Given the description of an element on the screen output the (x, y) to click on. 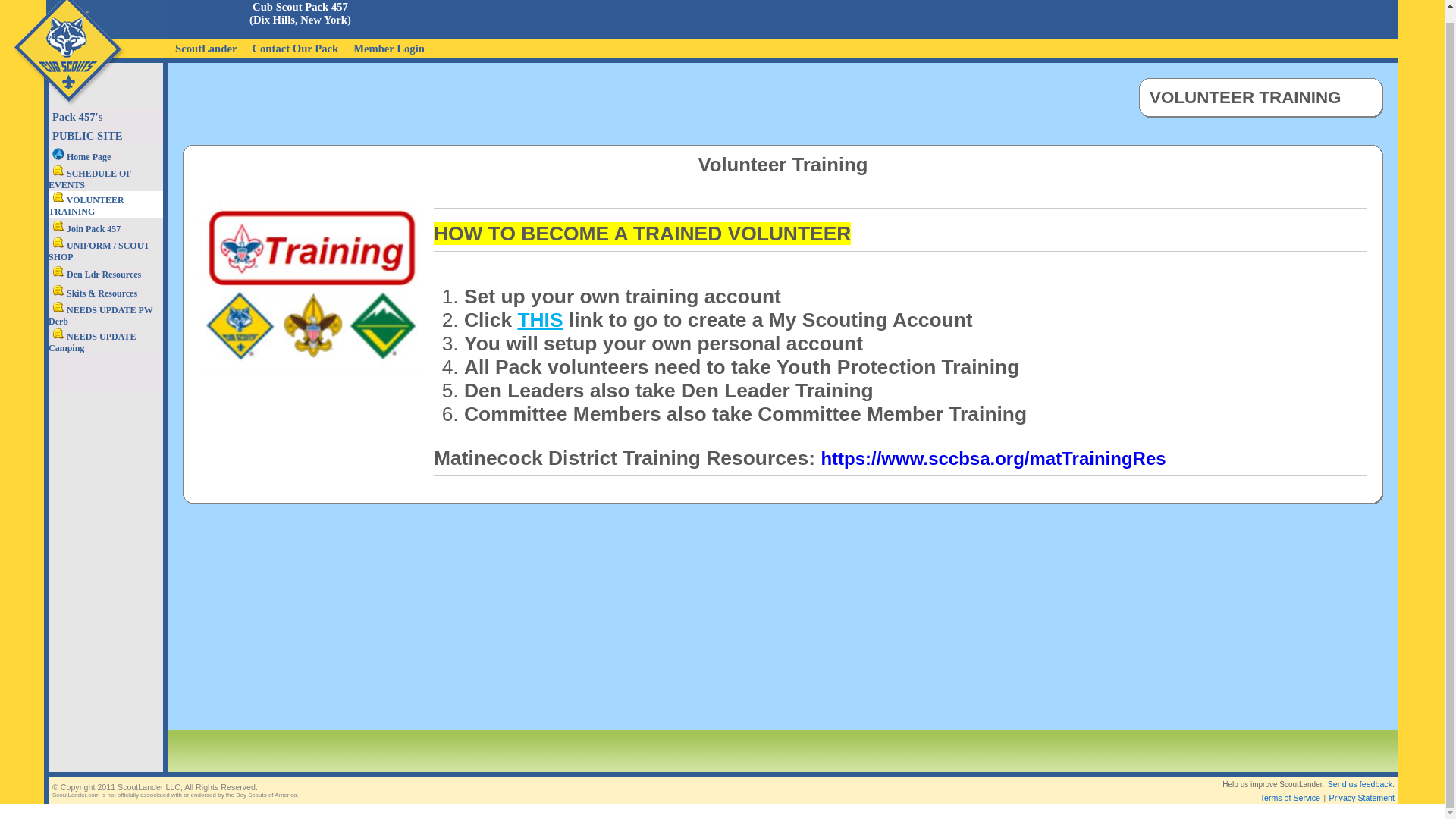
Den Ldr Resources (98, 273)
Home Page (82, 156)
NEEDS UPDATE PW Derb (100, 315)
Contact Our Pack (295, 46)
Privacy Statement (1361, 797)
Member Login (389, 46)
Join Pack 457 (88, 227)
VOLUNTEER TRAINING (1260, 97)
THIS (539, 319)
NEEDS UPDATE Camping (91, 341)
